Given the description of an element on the screen output the (x, y) to click on. 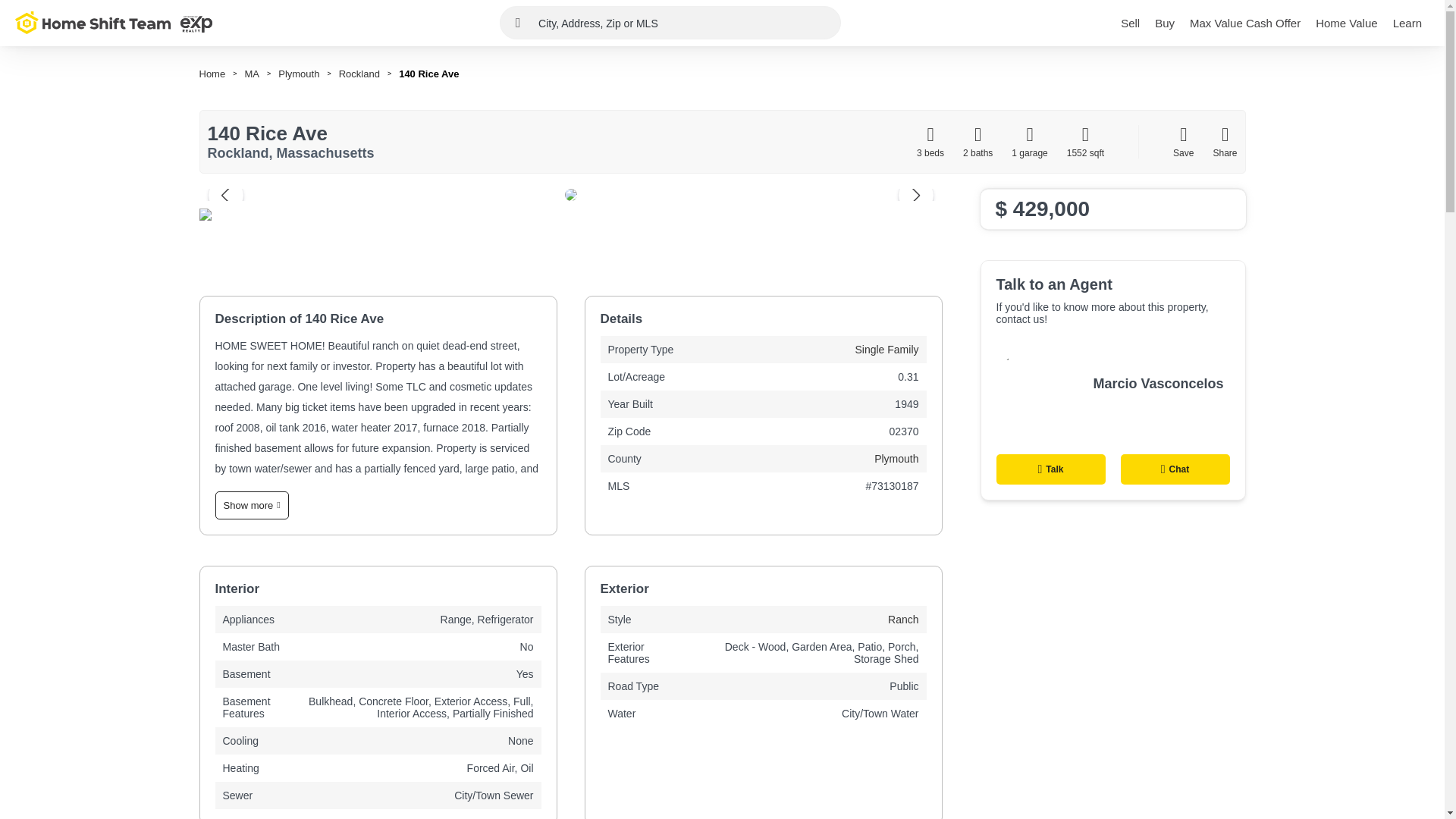
Max Value Cash Offer (1244, 22)
Home Shift Team (113, 23)
Learn (1407, 22)
Home Value (1346, 22)
MA (251, 73)
Sell (1130, 22)
Max Value Cash Offer (1244, 22)
Learn (1407, 22)
Single Family (886, 349)
Sell (1130, 22)
Plymouth (298, 73)
Rockland (359, 73)
Buy (1164, 22)
Home Value (1346, 22)
Ranch (903, 619)
